Given the description of an element on the screen output the (x, y) to click on. 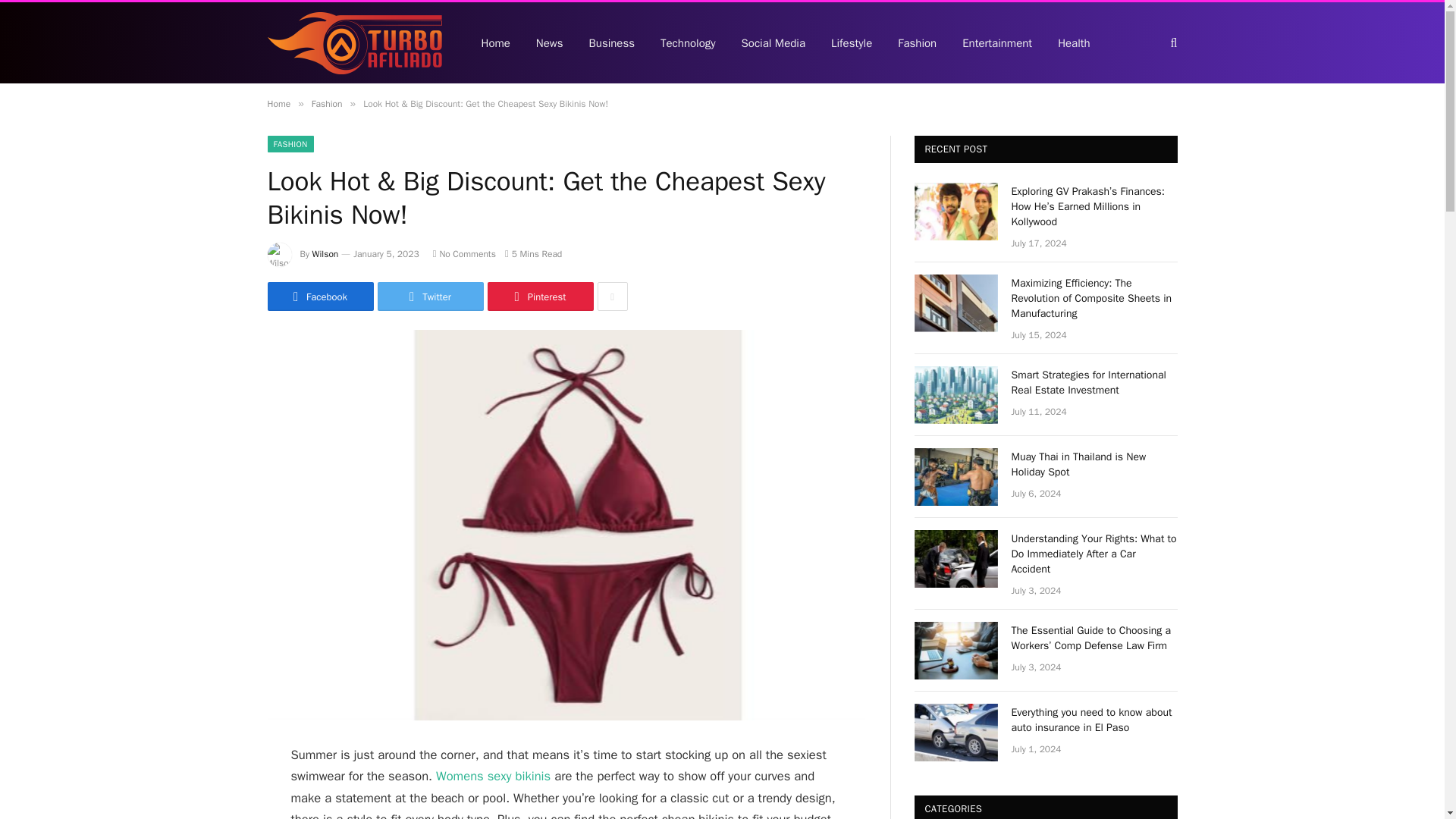
Entertainment (997, 42)
Show More Social Sharing (611, 296)
Share on Facebook (319, 296)
Share on Pinterest (539, 296)
Home (277, 103)
Womens sexy bikinis (492, 775)
Wilson (326, 254)
Technology (688, 42)
Posts by Wilson (326, 254)
Facebook (319, 296)
Twitter (430, 296)
No Comments (464, 254)
Pinterest (539, 296)
Turboafiliado.com (353, 42)
Fashion (326, 103)
